Given the description of an element on the screen output the (x, y) to click on. 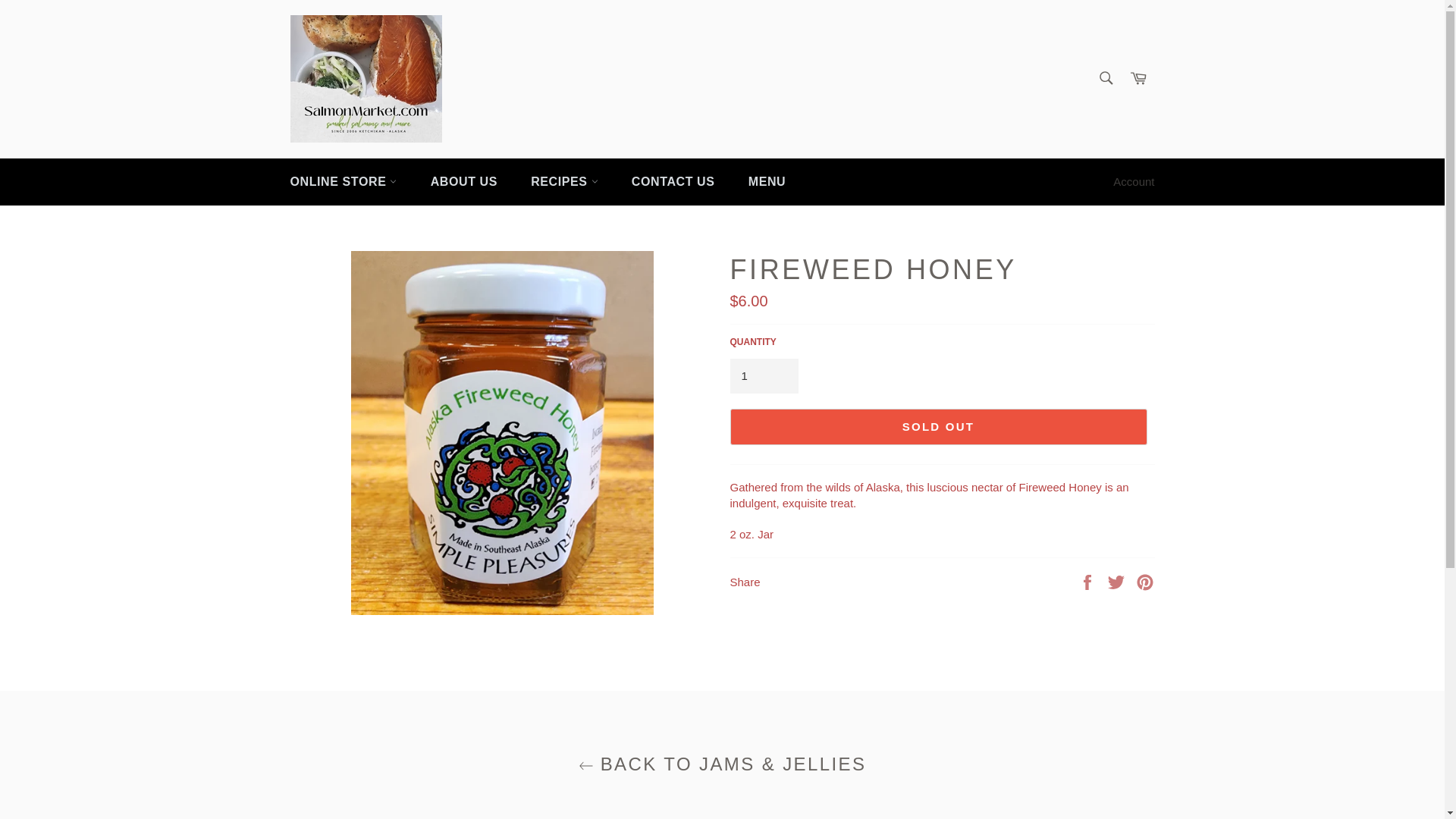
Share on Facebook (1088, 581)
Cart (1138, 79)
Search (1104, 78)
ONLINE STORE (343, 181)
Tweet on Twitter (1117, 581)
1 (763, 375)
Pin on Pinterest (1144, 581)
